Given the description of an element on the screen output the (x, y) to click on. 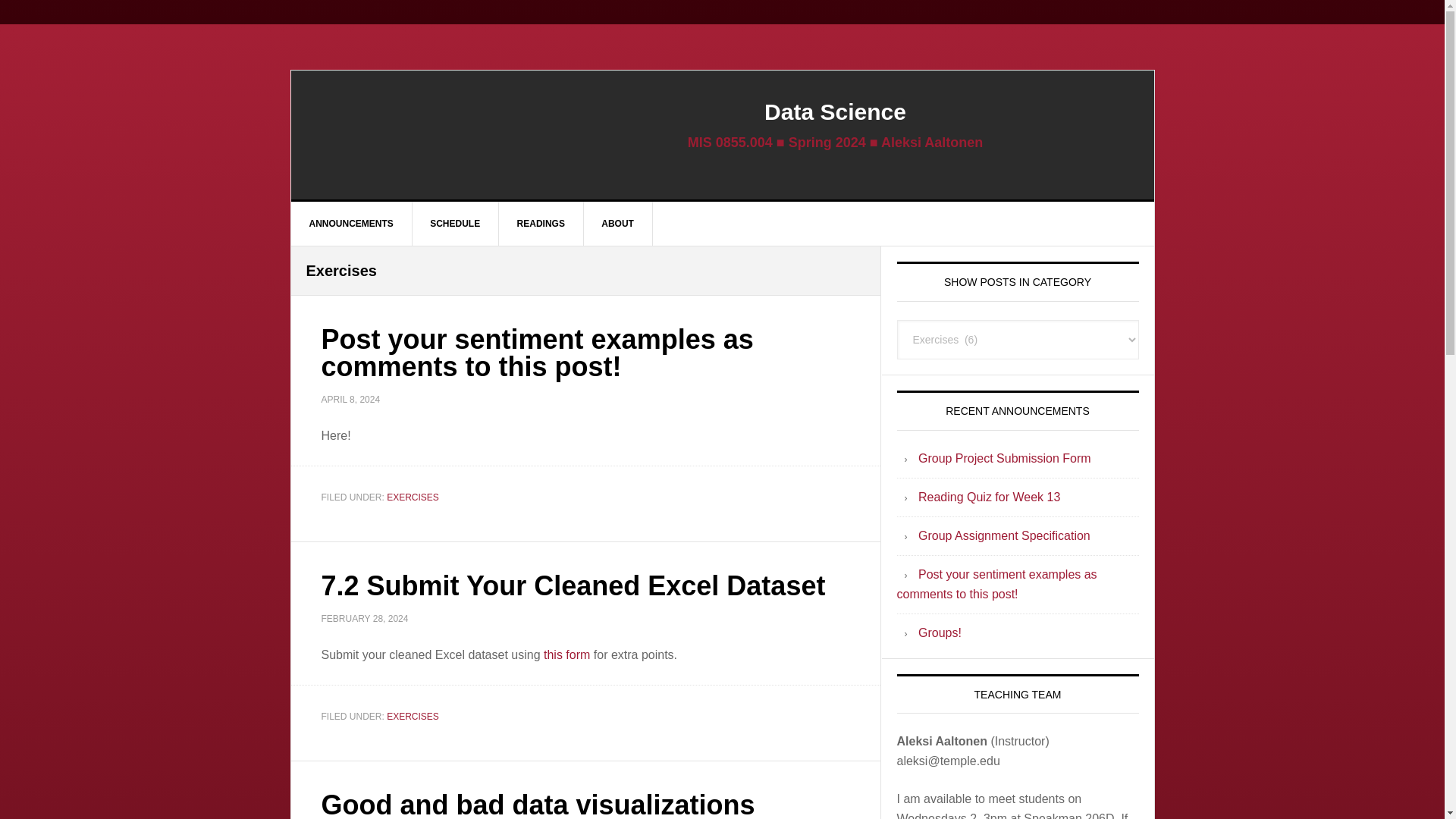
EXERCISES (413, 716)
7.2 Submit Your Cleaned Excel Dataset (573, 585)
Groups! (939, 632)
Group Assignment Specification (1004, 535)
EXERCISES (413, 496)
DATA SCIENCE (419, 134)
Post your sentiment examples as comments to this post! (996, 584)
this form (566, 653)
Good and bad data visualizations (538, 804)
Post your sentiment examples as comments to this post! (537, 352)
Group Project Submission Form (1004, 458)
SCHEDULE (455, 223)
READINGS (541, 223)
Reading Quiz for Week 13 (988, 496)
